Given the description of an element on the screen output the (x, y) to click on. 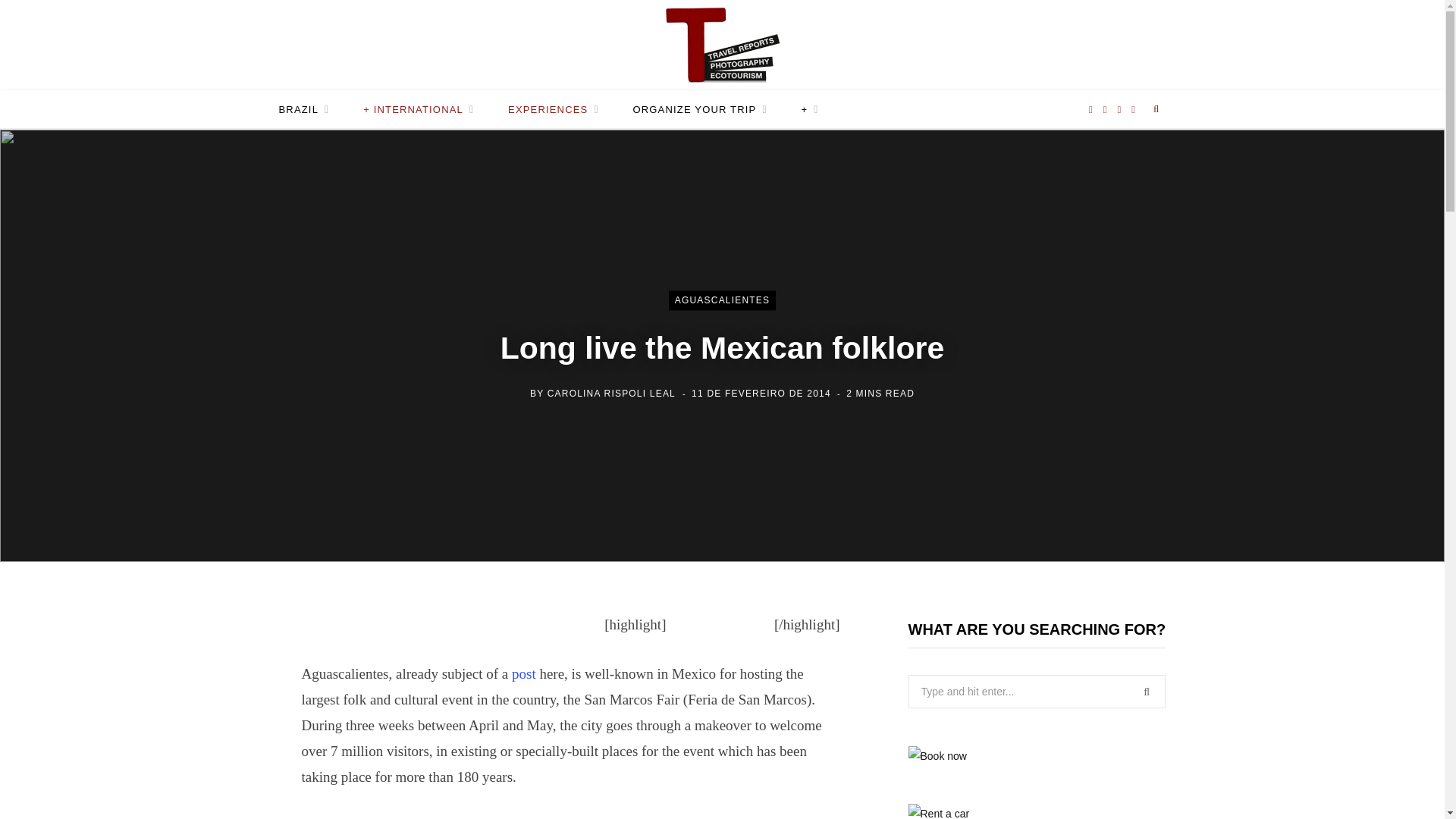
Arriba, muchacho! (523, 673)
Posts de Carolina Rispoli Leal (611, 394)
BRAZIL (304, 109)
EXPERIENCES (553, 109)
